Given the description of an element on the screen output the (x, y) to click on. 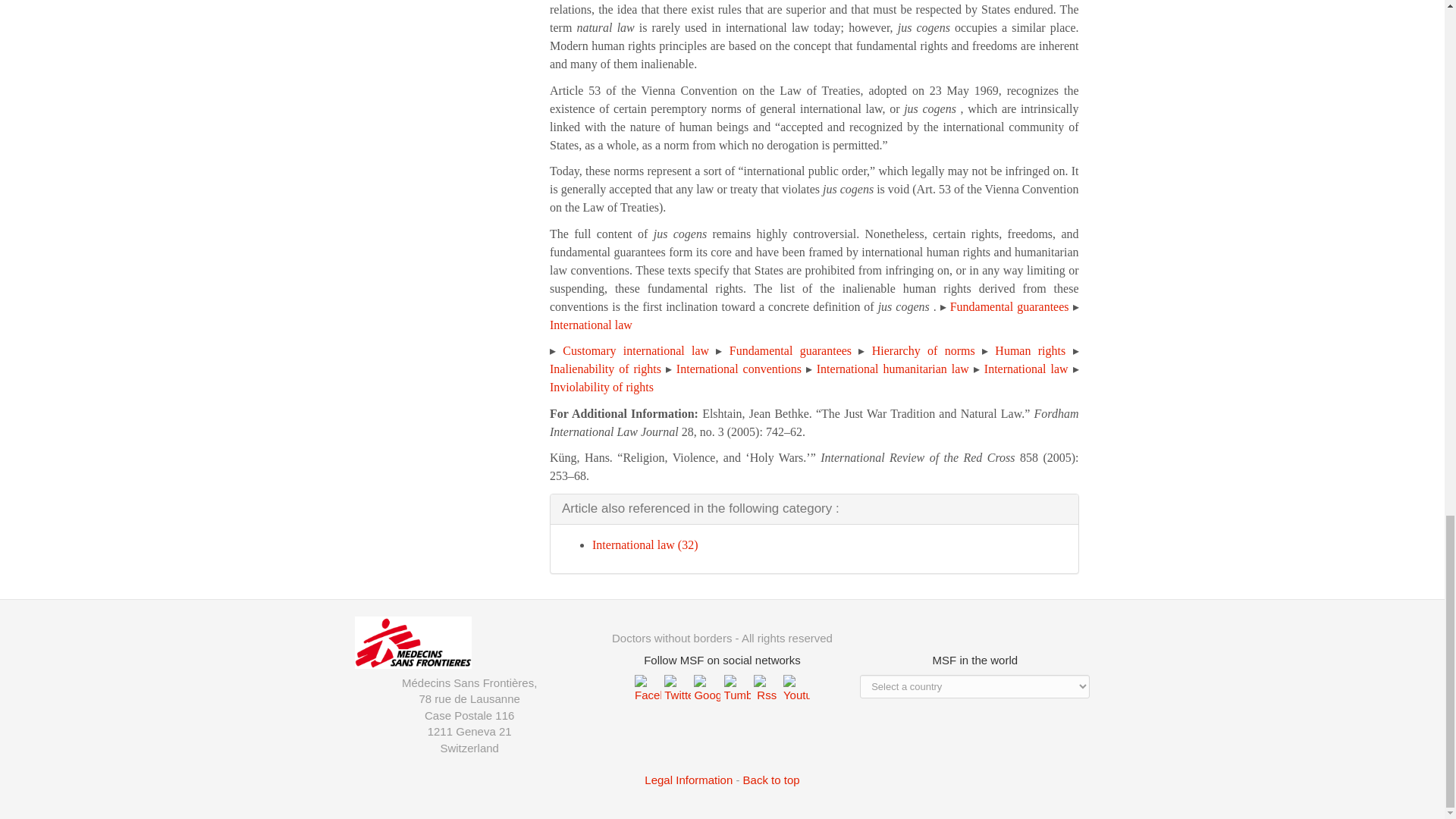
Twitter (678, 686)
Youtube (796, 686)
Google (708, 686)
Facebook (648, 686)
Tumblr (738, 686)
Rss (768, 686)
